Given the description of an element on the screen output the (x, y) to click on. 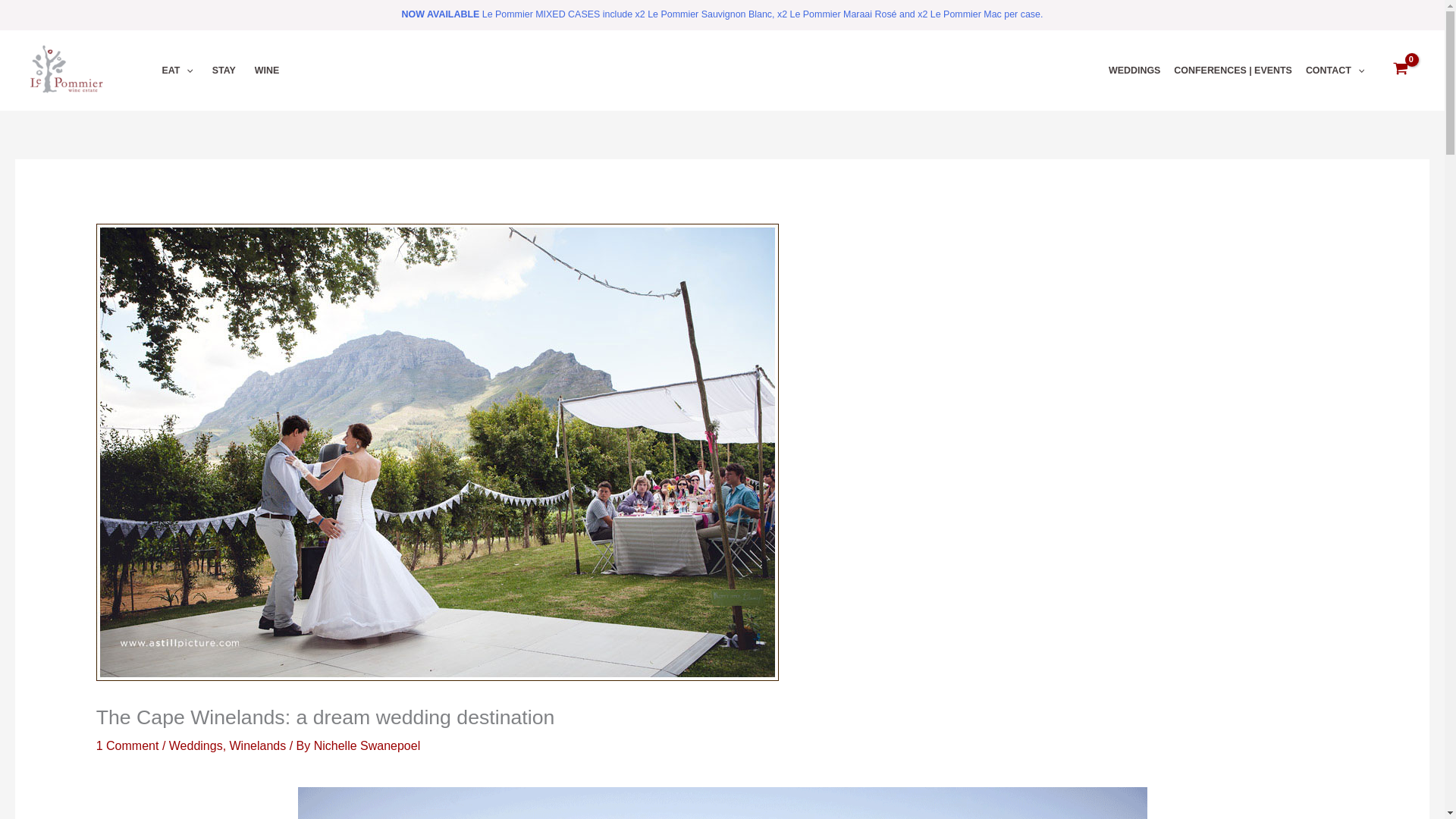
Weddings (195, 745)
Nichelle Swanepoel (367, 745)
Winelands (258, 745)
1 Comment (127, 745)
CONTACT (1334, 70)
View all posts by Nichelle Swanepoel (367, 745)
